Given the description of an element on the screen output the (x, y) to click on. 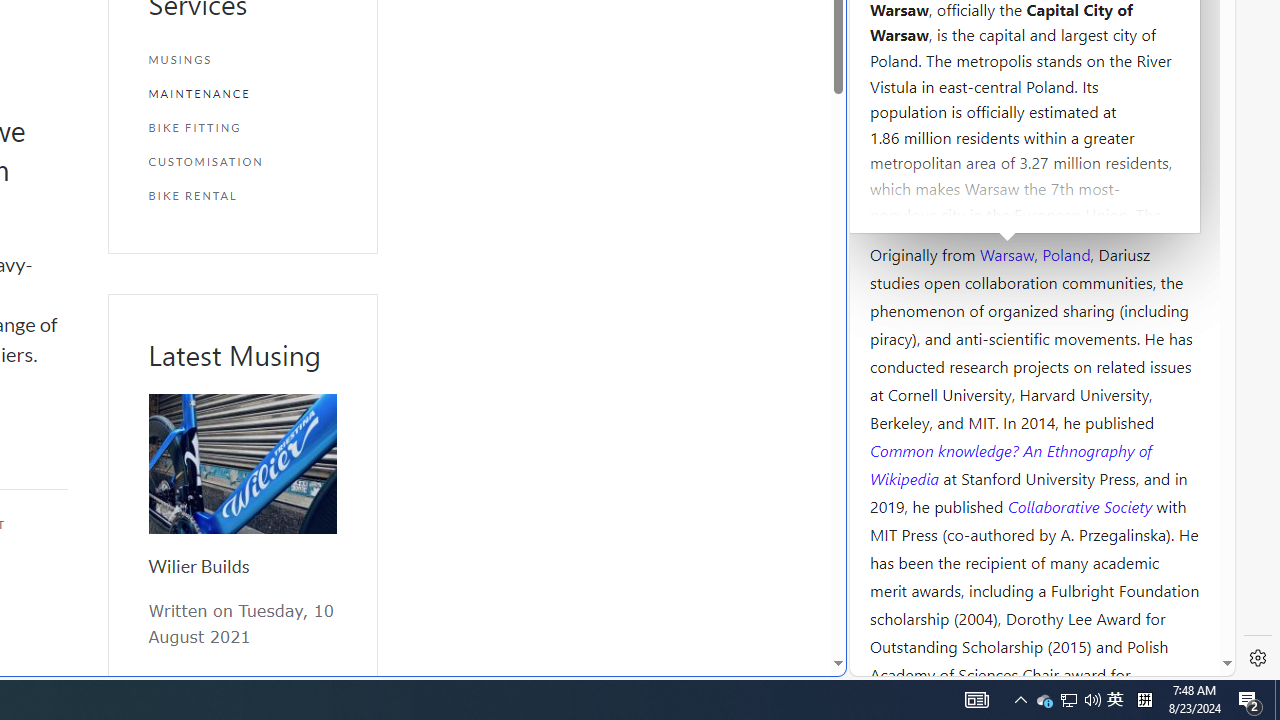
Class: wk-position-cover (242, 463)
CUSTOMISATION (242, 161)
BIKE FITTING (242, 127)
Actions for this site (1129, 306)
